Given the description of an element on the screen output the (x, y) to click on. 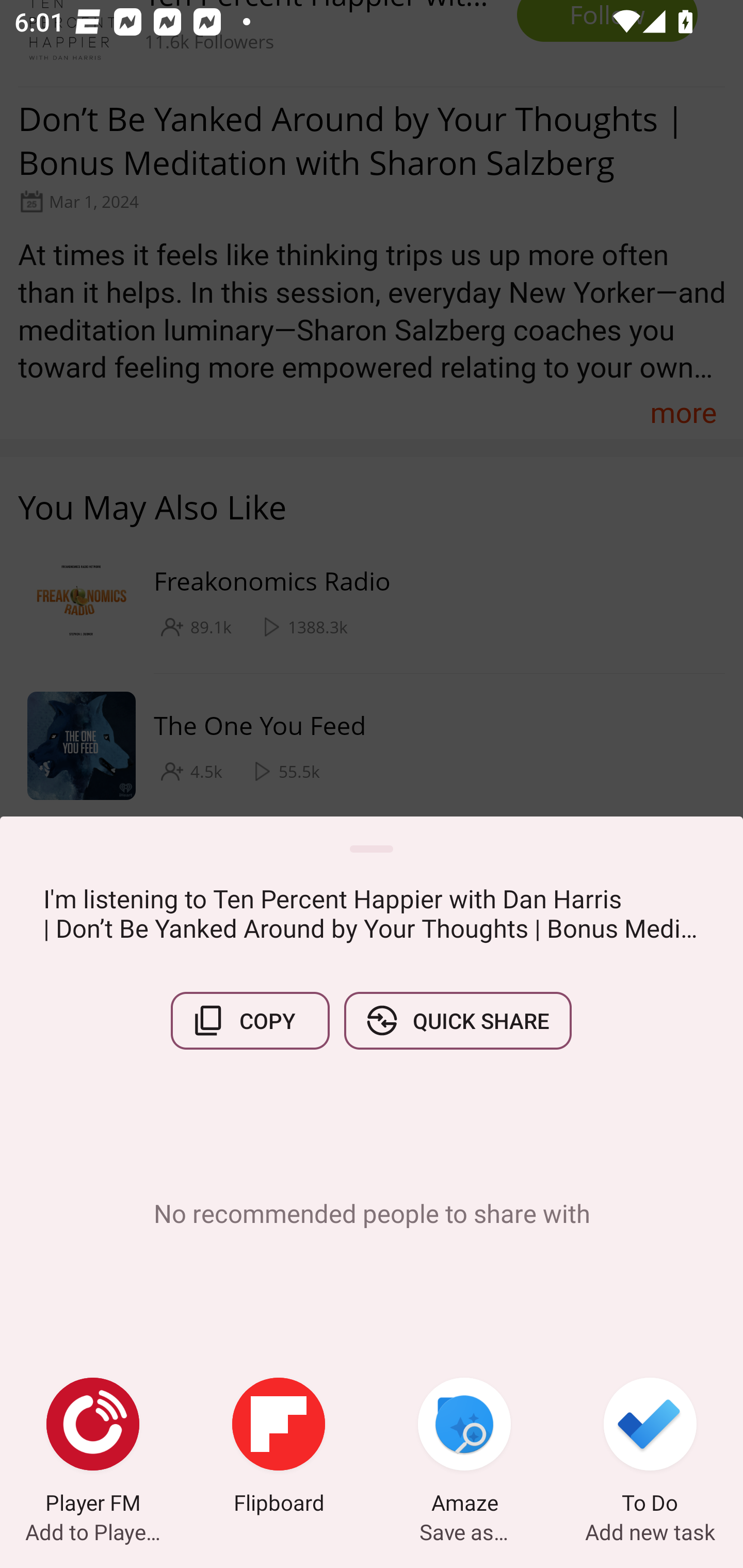
COPY (249, 1020)
QUICK SHARE (457, 1020)
Player FM Add to Player FM (92, 1448)
Flipboard (278, 1448)
Amaze Save as… (464, 1448)
To Do Add new task (650, 1448)
